Given the description of an element on the screen output the (x, y) to click on. 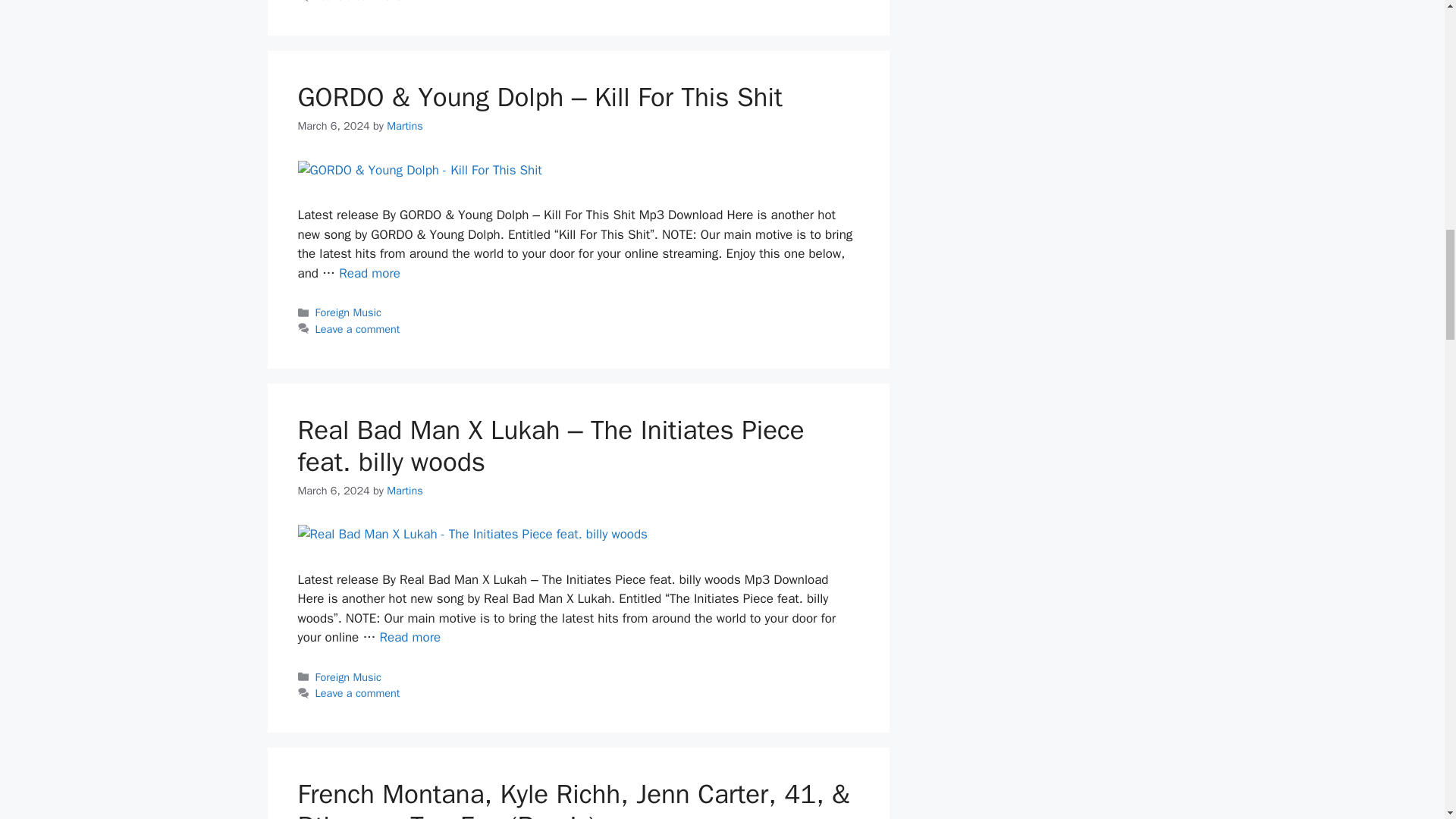
Leave a comment (357, 693)
Read more (409, 637)
Read more (369, 273)
Foreign Music (348, 312)
Foreign Music (348, 676)
View all posts by Martins (405, 490)
Leave a comment (357, 1)
Martins (405, 490)
Leave a comment (357, 328)
View all posts by Martins (405, 125)
Martins (405, 125)
